Given the description of an element on the screen output the (x, y) to click on. 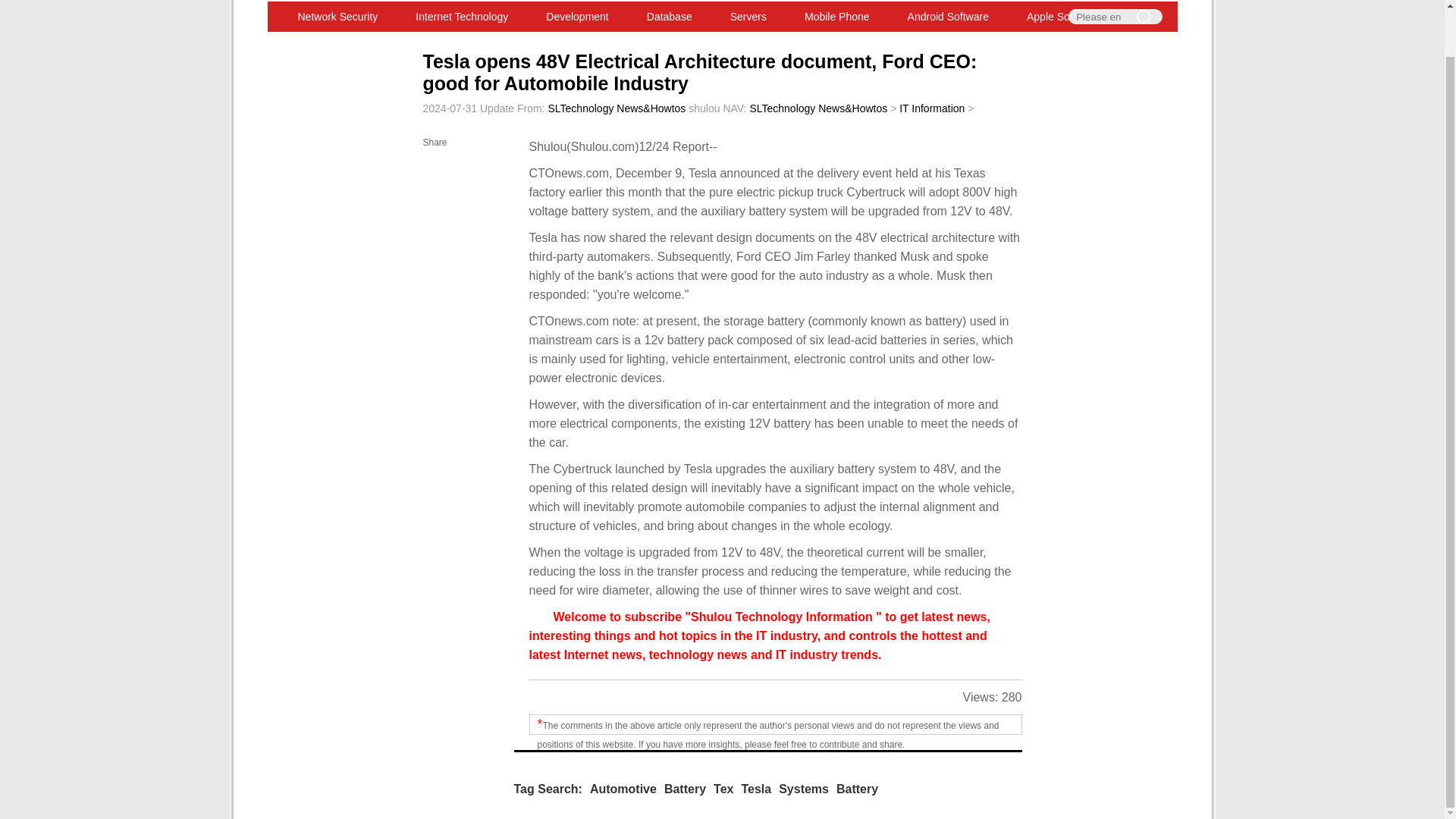
Android Software (947, 16)
Database (669, 16)
Development (577, 16)
Servers (748, 16)
Network Security (338, 16)
Servers (748, 16)
Database (669, 16)
Network Security (338, 16)
Mobile Phone (837, 16)
Apple Software (1062, 16)
Android Software (947, 16)
IT Information (931, 108)
Apple Software (1062, 16)
Development (577, 16)
Internet Technology (461, 16)
